Given the description of an element on the screen output the (x, y) to click on. 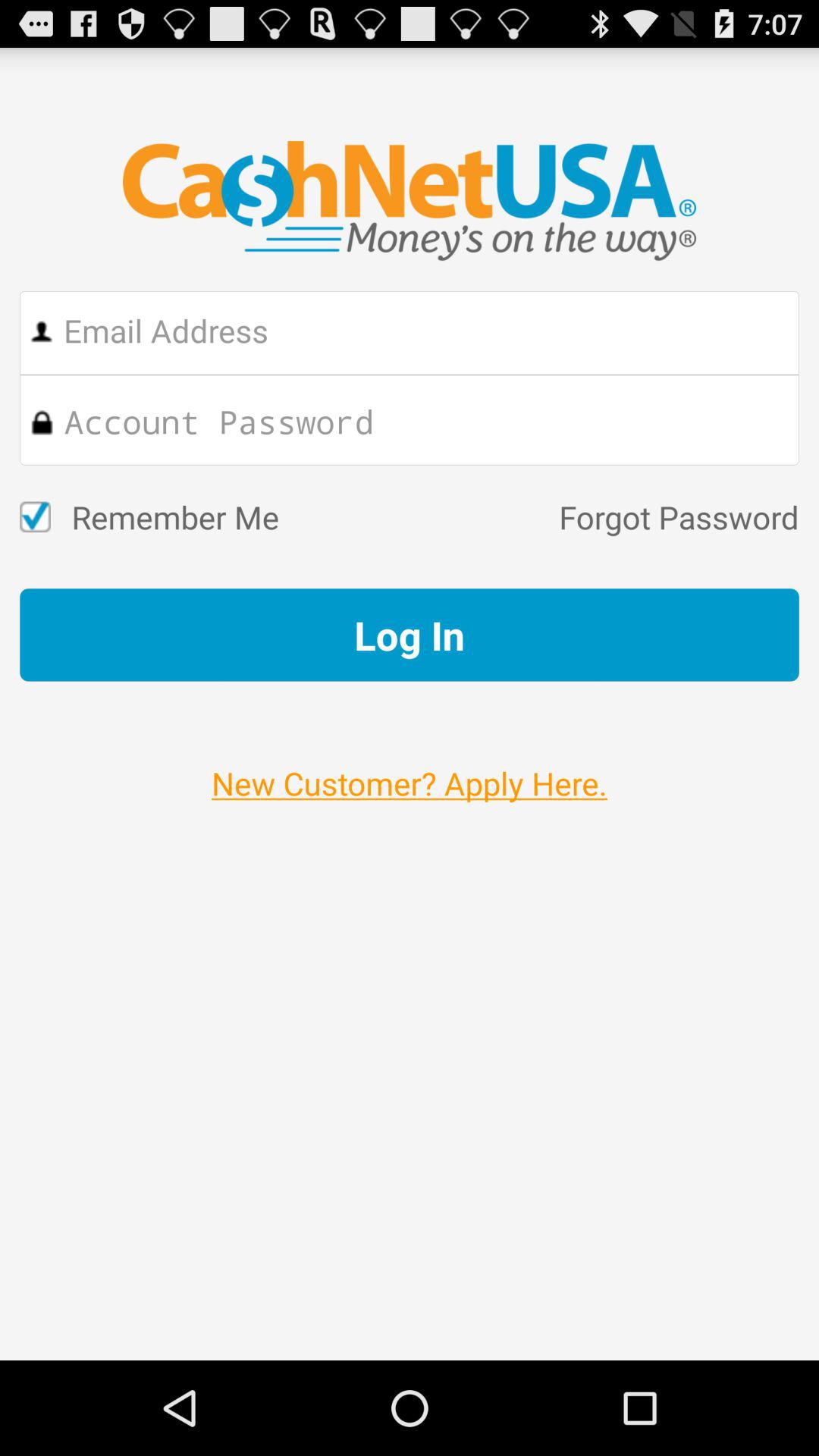
press the item above the new customer apply item (409, 634)
